Given the description of an element on the screen output the (x, y) to click on. 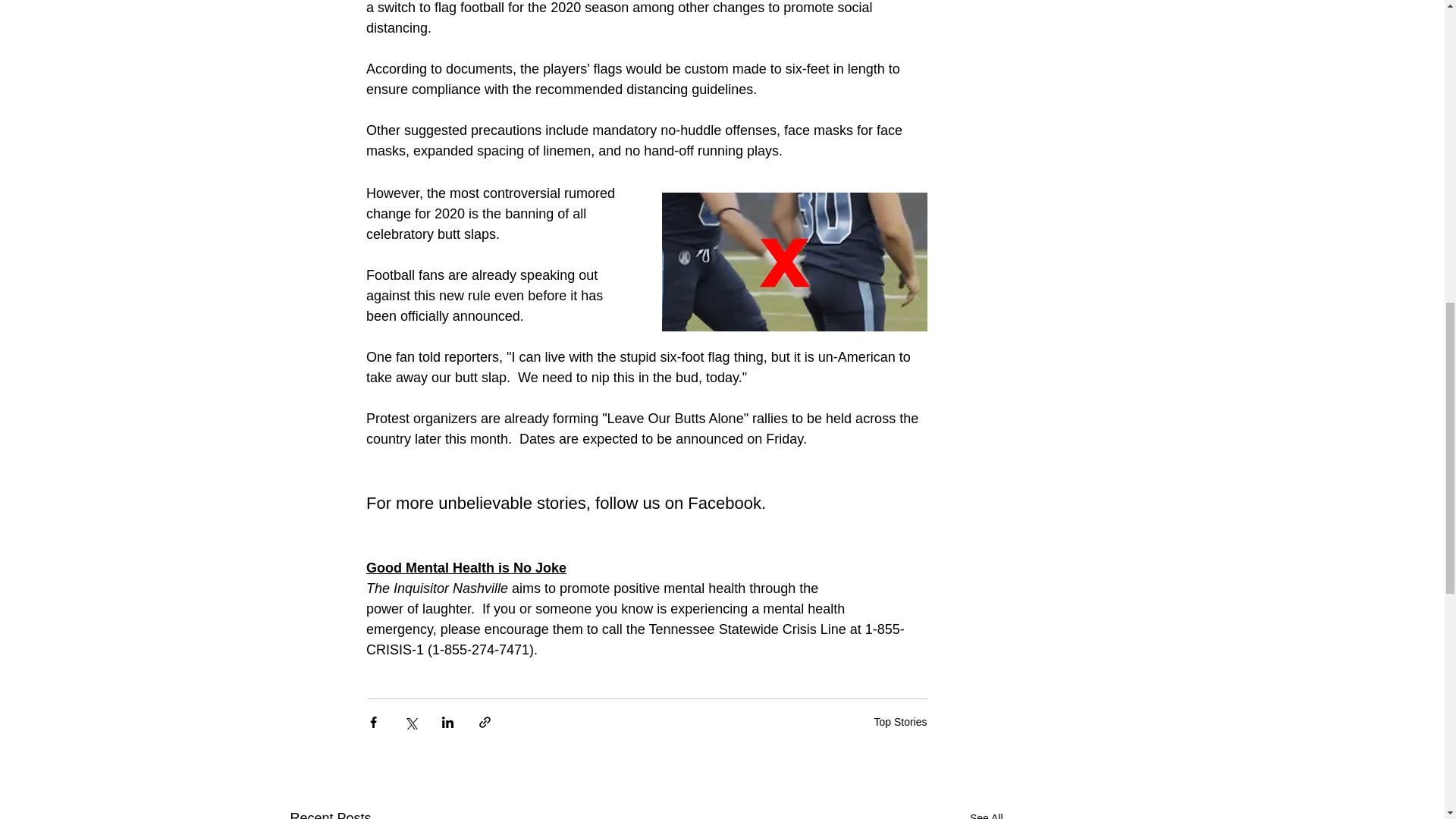
See All (986, 813)
Top Stories (899, 721)
